Given the description of an element on the screen output the (x, y) to click on. 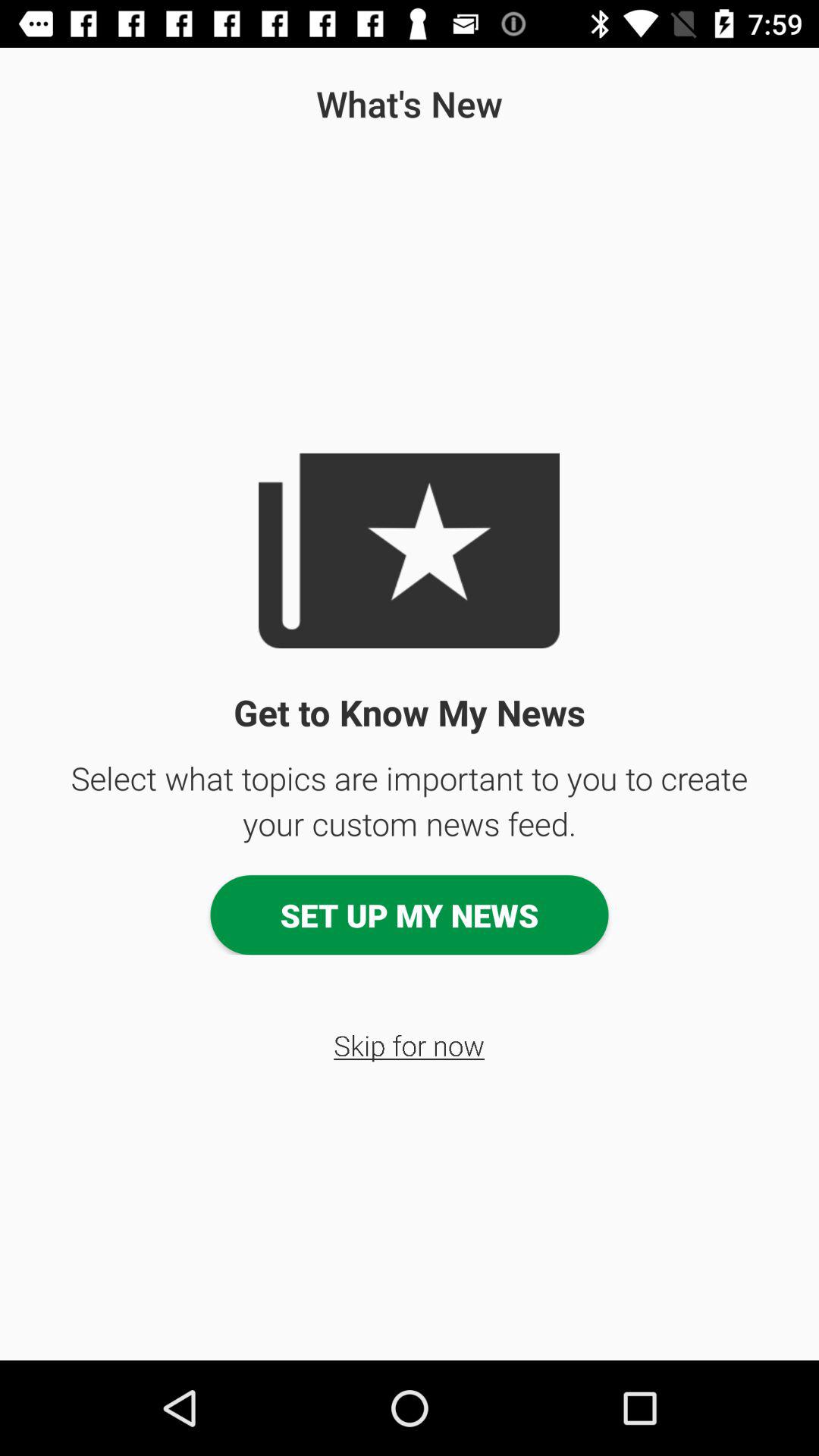
select the item below select what topics app (409, 914)
